Given the description of an element on the screen output the (x, y) to click on. 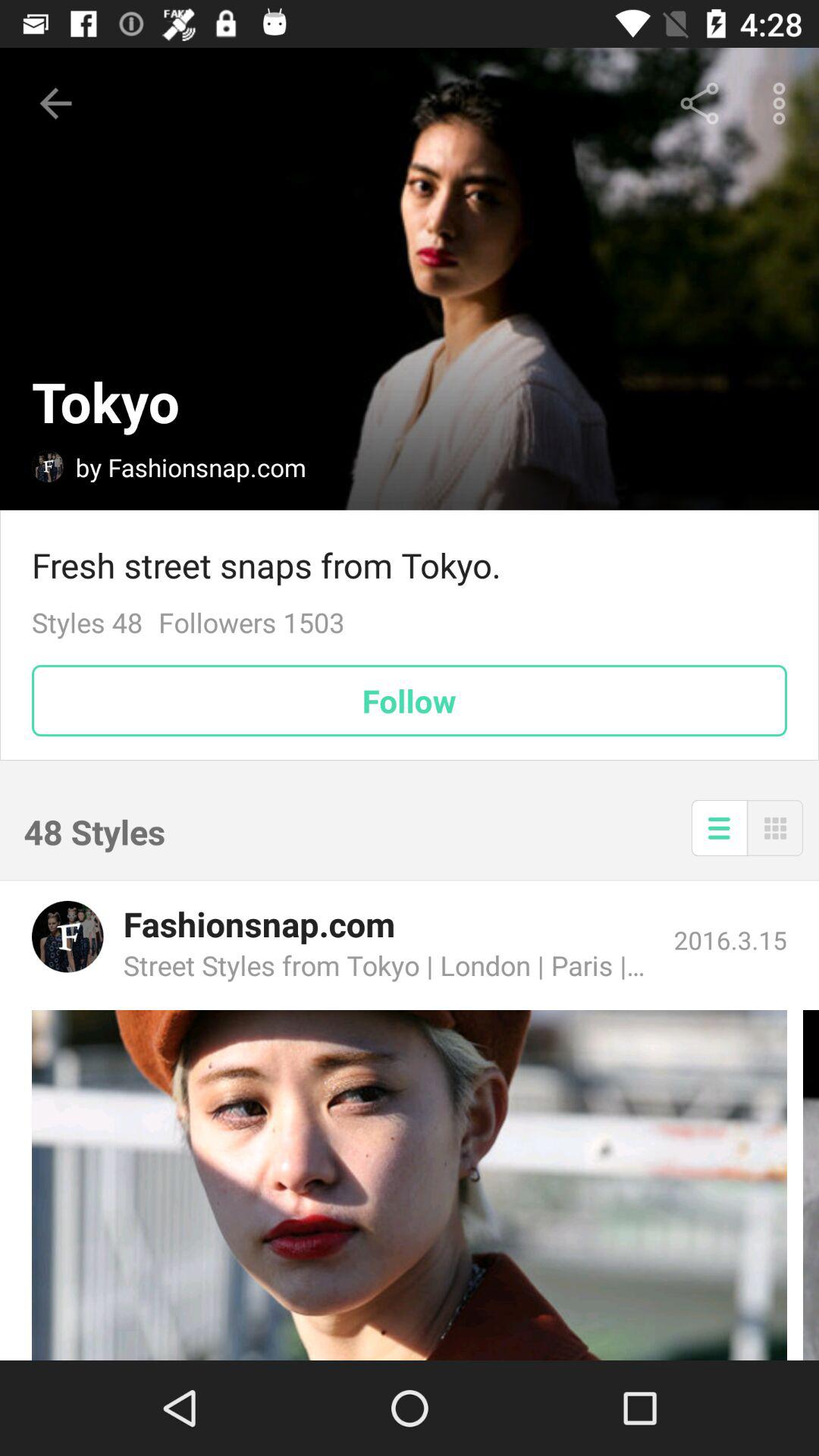
settings (718, 827)
